Given the description of an element on the screen output the (x, y) to click on. 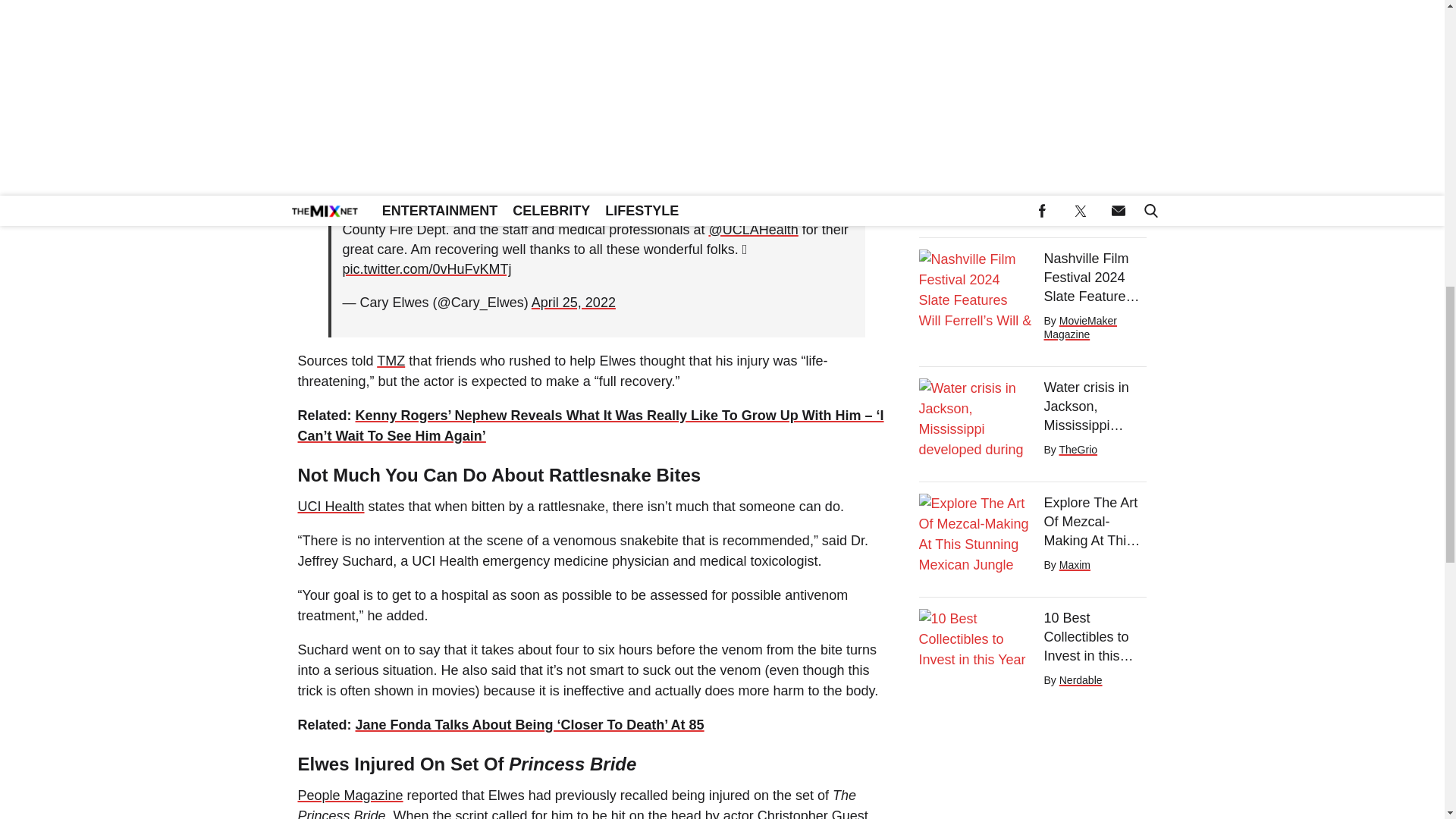
April 25, 2022 (573, 302)
People Magazine (350, 795)
TMZ (390, 360)
UCI Health (330, 506)
Daily Mail (326, 68)
